Given the description of an element on the screen output the (x, y) to click on. 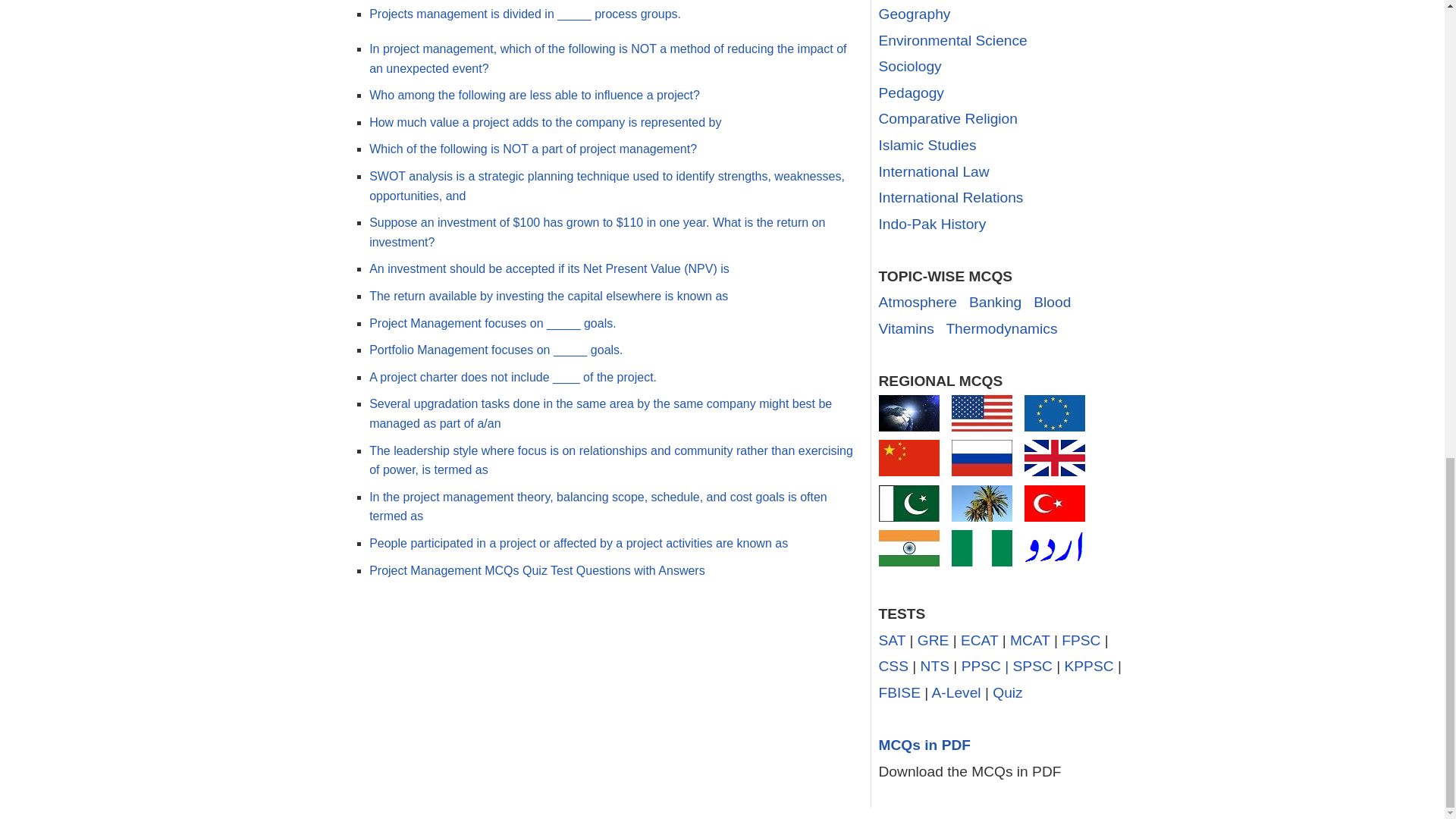
Which of the following is NOT a part of project management? (533, 148)
